Given the description of an element on the screen output the (x, y) to click on. 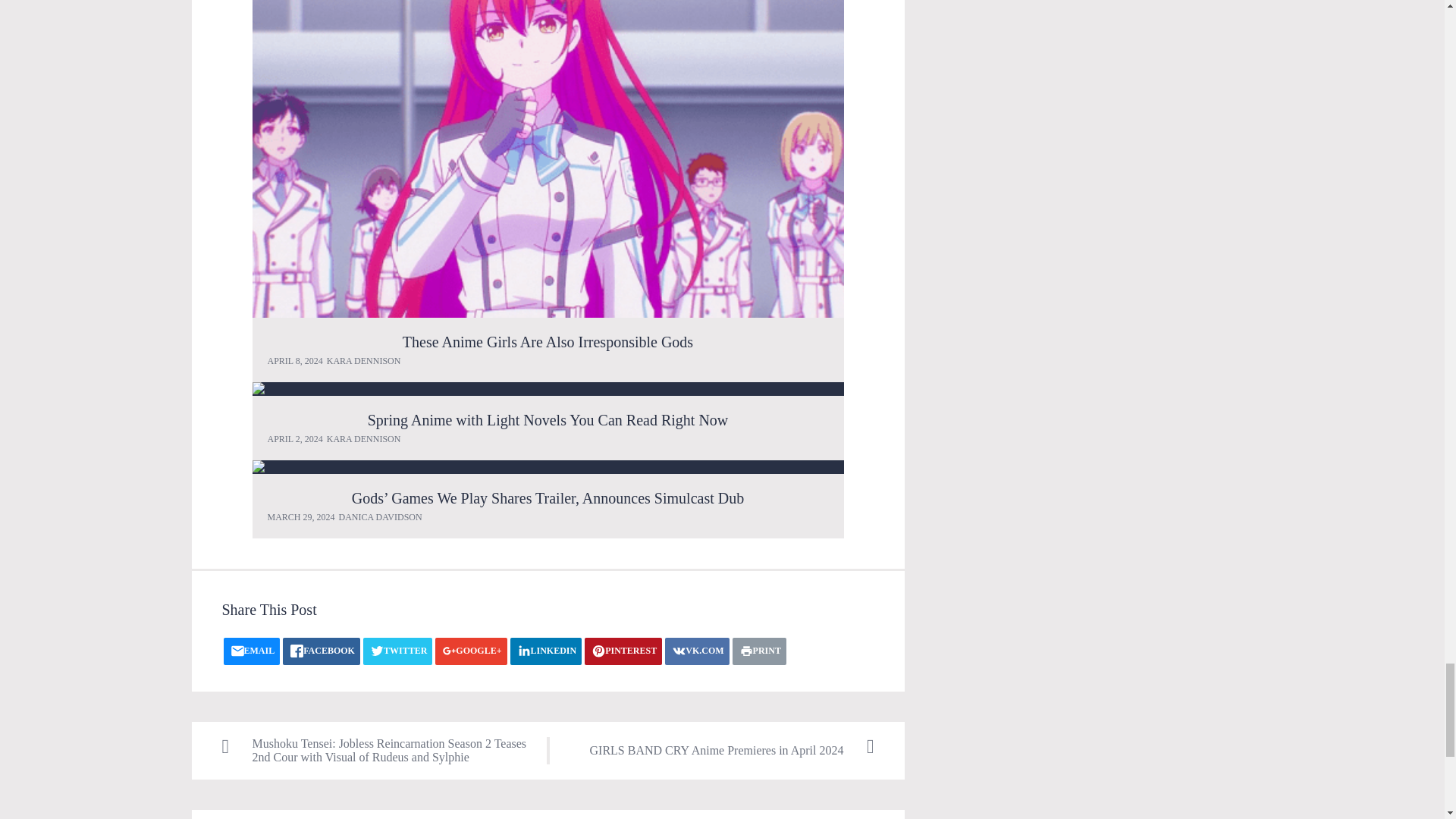
Spring Anime with Light Novels You Can Read Right Now (548, 419)
These Anime Girls Are Also Irresponsible Gods (548, 341)
Spring Anime with Light Novels You Can Read Right Now (547, 388)
